Given the description of an element on the screen output the (x, y) to click on. 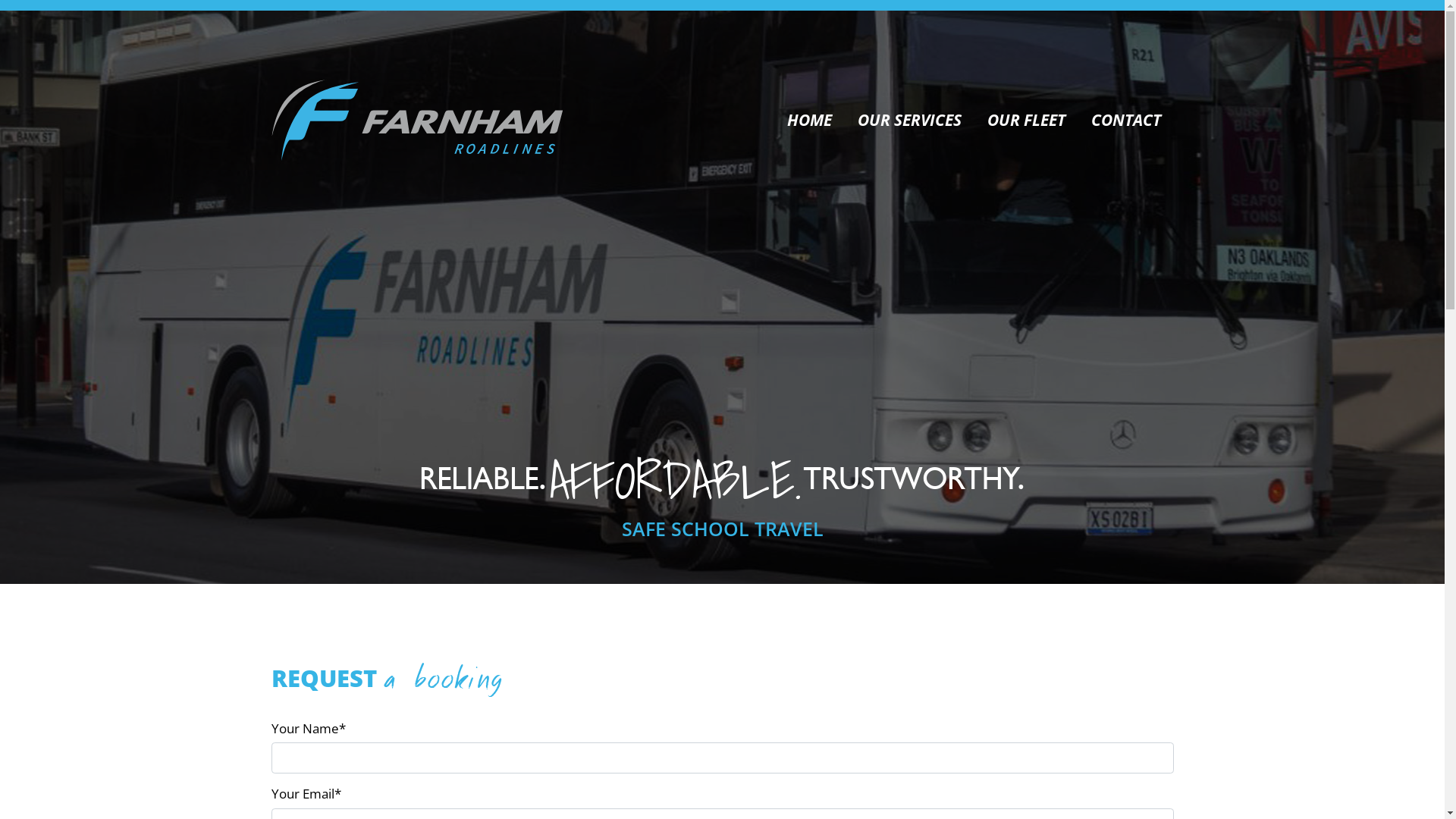
OUR FLEET Element type: text (1025, 119)
HOME Element type: text (808, 119)
OUR SERVICES Element type: text (909, 119)
CONTACT Element type: text (1125, 119)
